Given the description of an element on the screen output the (x, y) to click on. 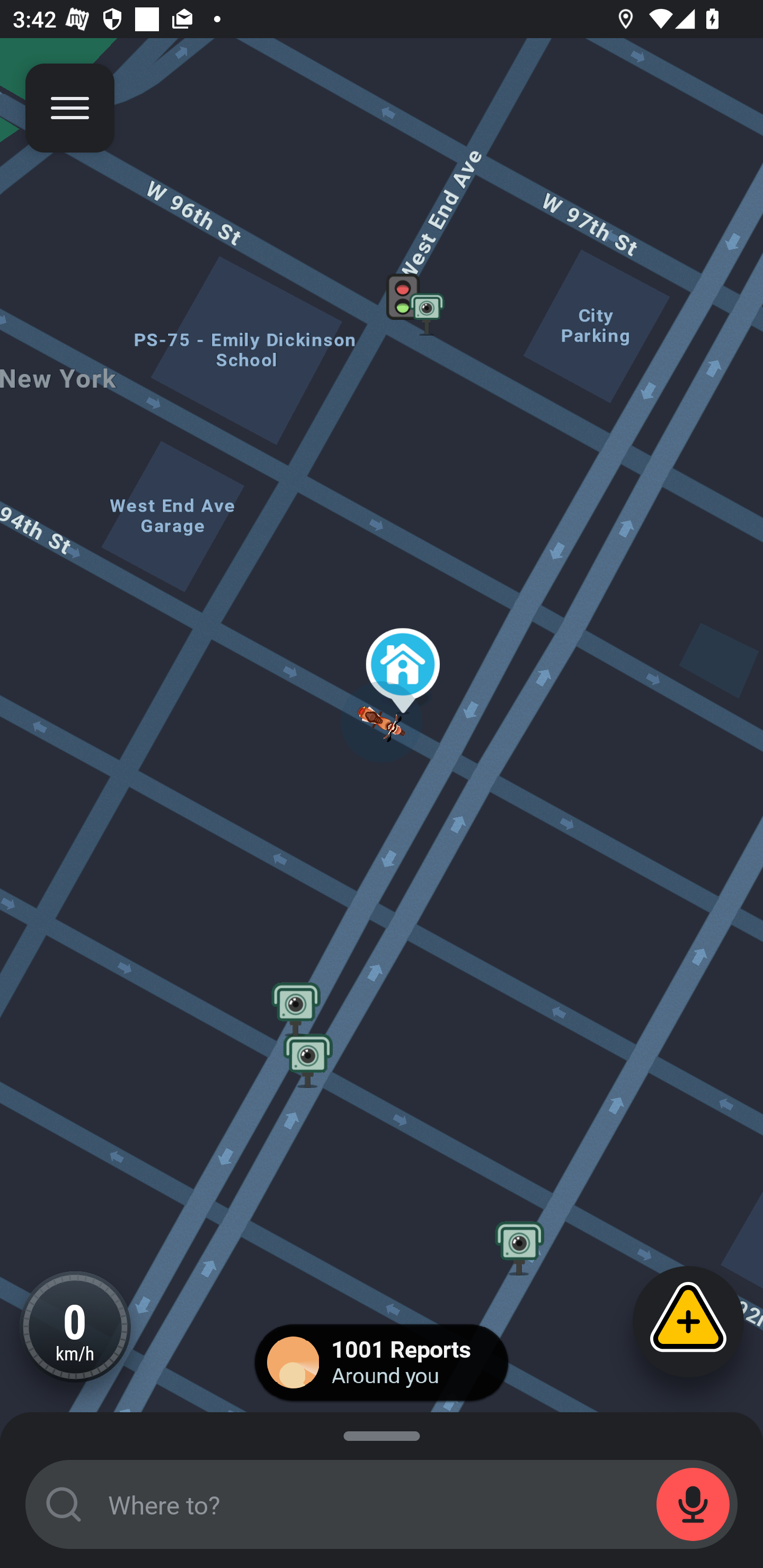
SUGGESTIONS_SHEET_DRAG_HANDLE (381, 1432)
START_STATE_SEARCH_FIELD Where to? (381, 1504)
